Given the description of an element on the screen output the (x, y) to click on. 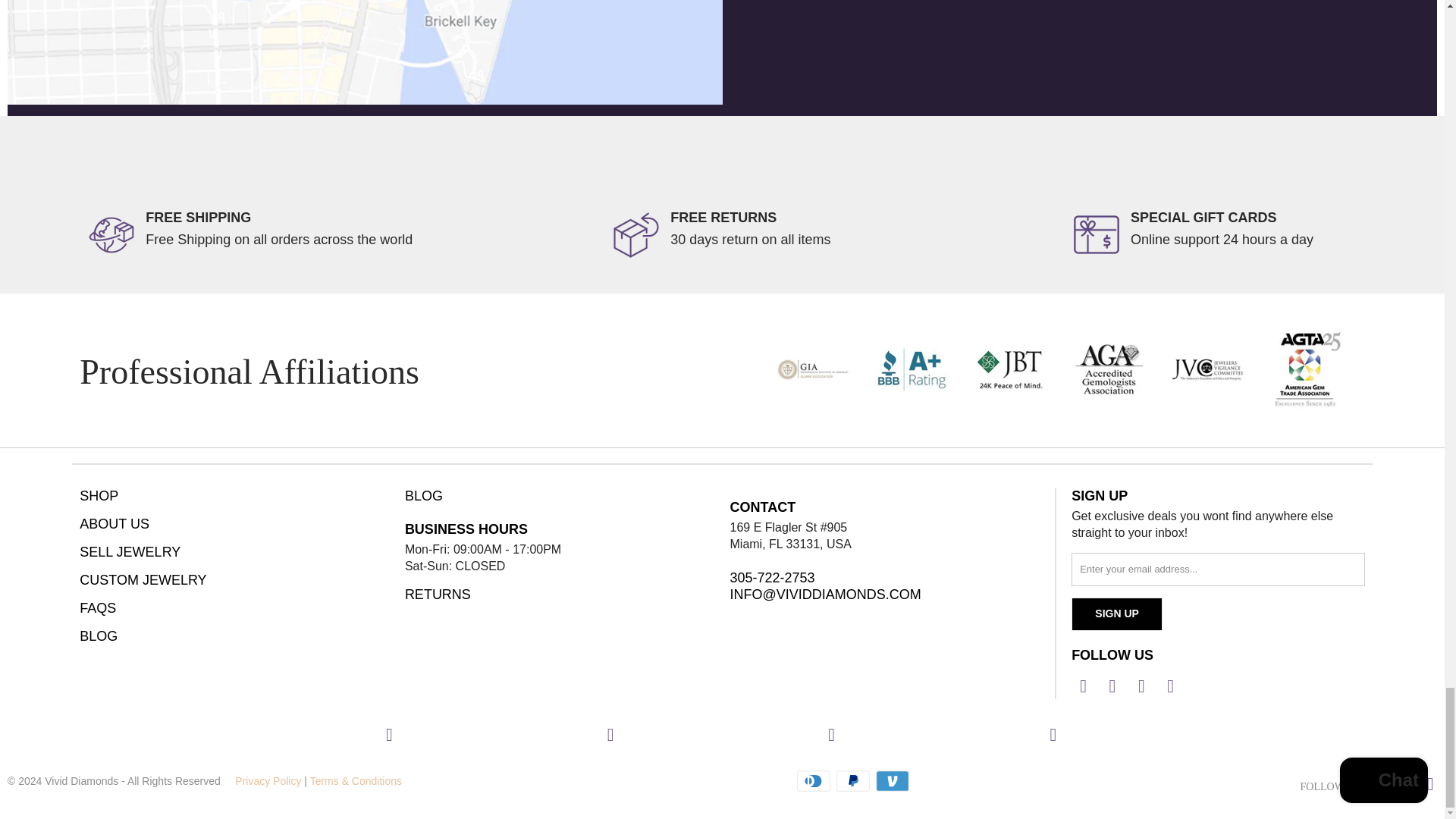
Vivid Diamonds on Facebook (1083, 686)
vividdiamonds on LinkedIn (831, 734)
Send us an email (884, 594)
Phone Number (884, 577)
Return Policy (559, 594)
vividdiamonds on Facebook (1371, 783)
vividdiamonds on Facebook (389, 734)
PayPal (853, 780)
vividdiamonds on Twitter (610, 734)
Vivid Diamonds on YouTube (1141, 686)
